Given the description of an element on the screen output the (x, y) to click on. 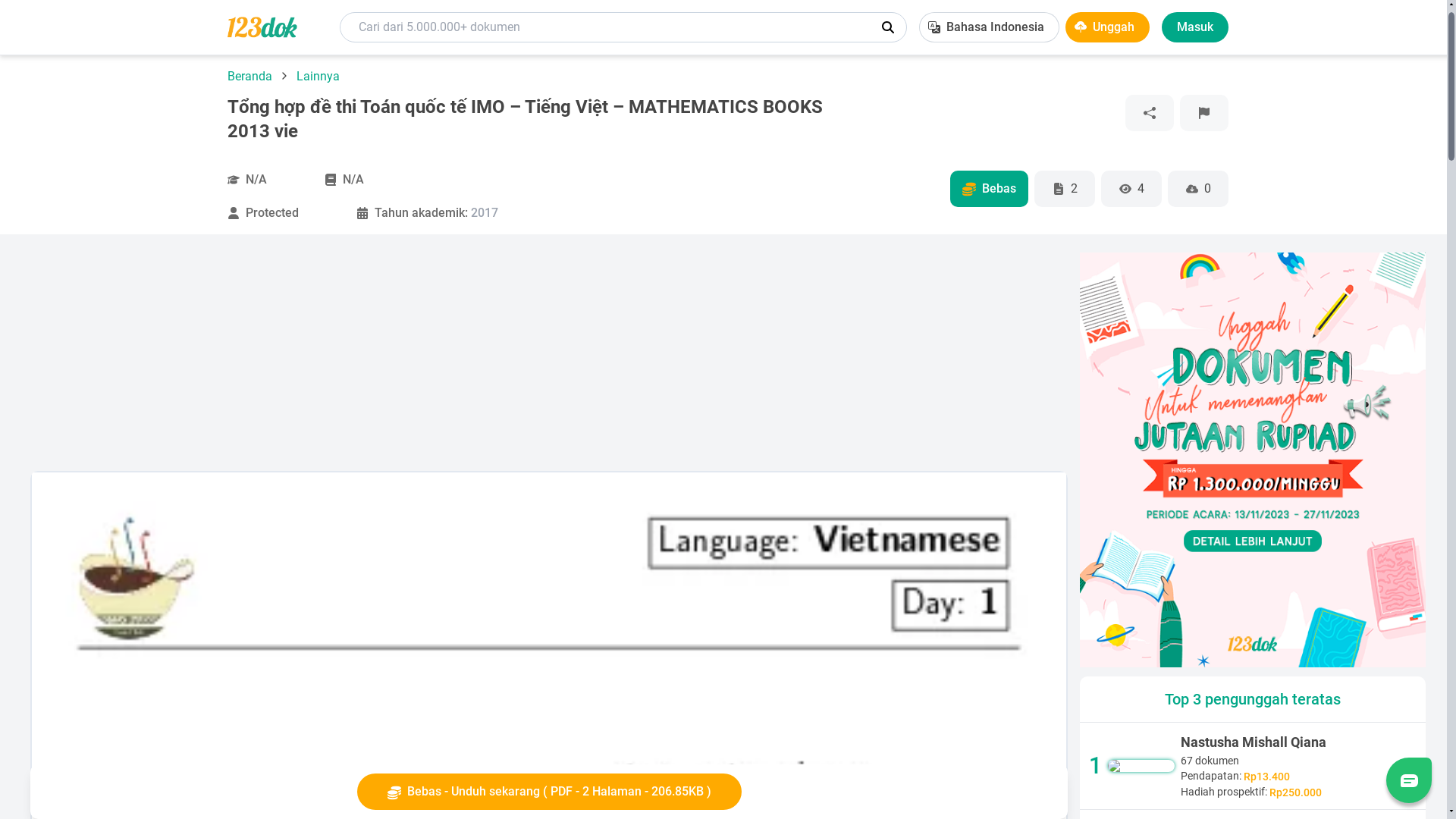
Lainnya Element type: text (317, 76)
Laporan Element type: hover (1203, 112)
Masuk Element type: text (1194, 27)
Beranda Element type: text (251, 76)
Advertisement Element type: hover (485, 358)
Membagikan Element type: hover (1149, 112)
Mencari Element type: hover (887, 27)
Bebas - Unduh sekarang ( PDF - 2 Halaman - 206.85KB ) Element type: text (548, 791)
Bahasa Indonesia Element type: text (989, 27)
Unggah Element type: text (1107, 27)
